Given the description of an element on the screen output the (x, y) to click on. 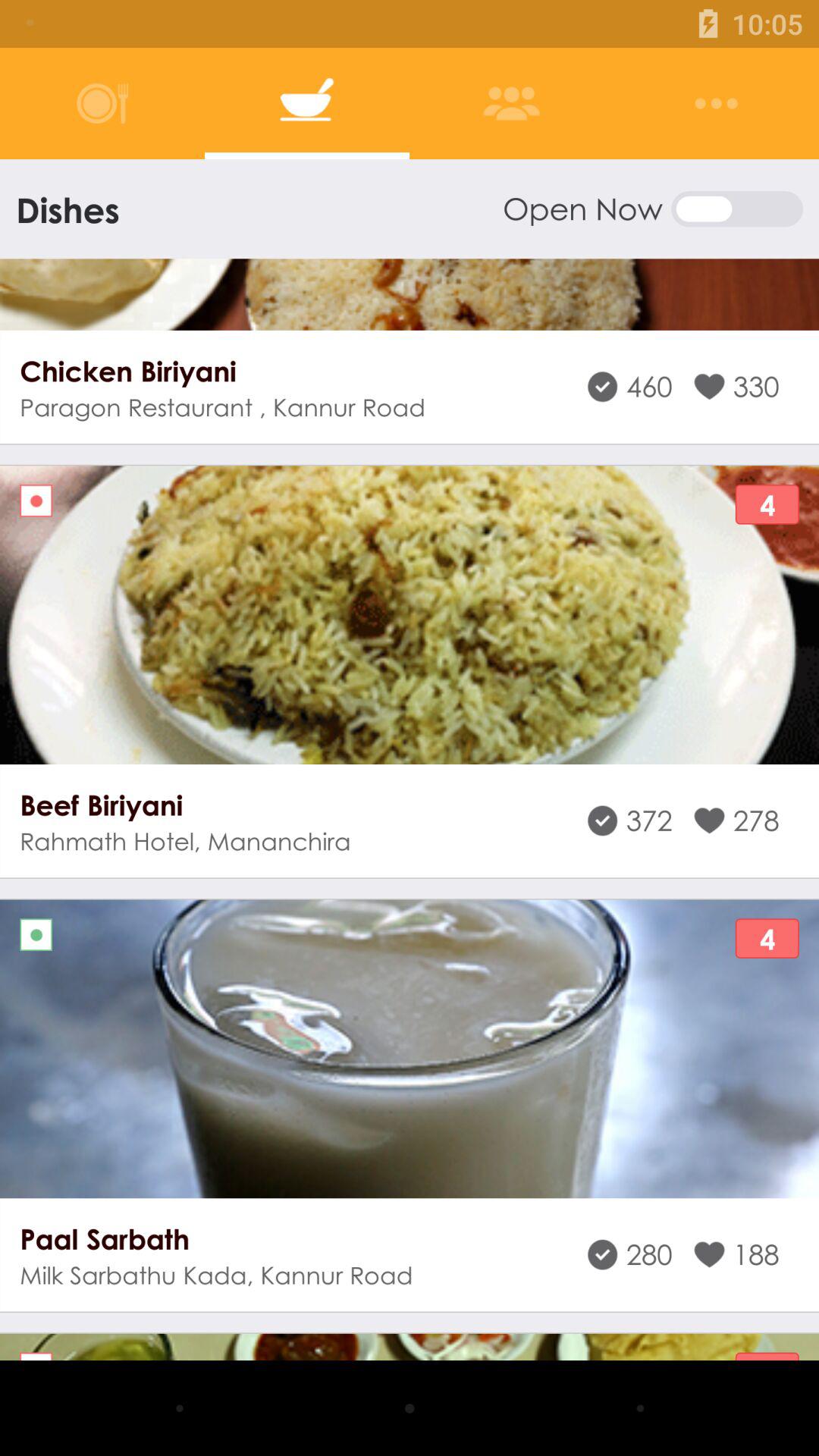
click on menu (715, 104)
select the people icon (511, 104)
